Given the description of an element on the screen output the (x, y) to click on. 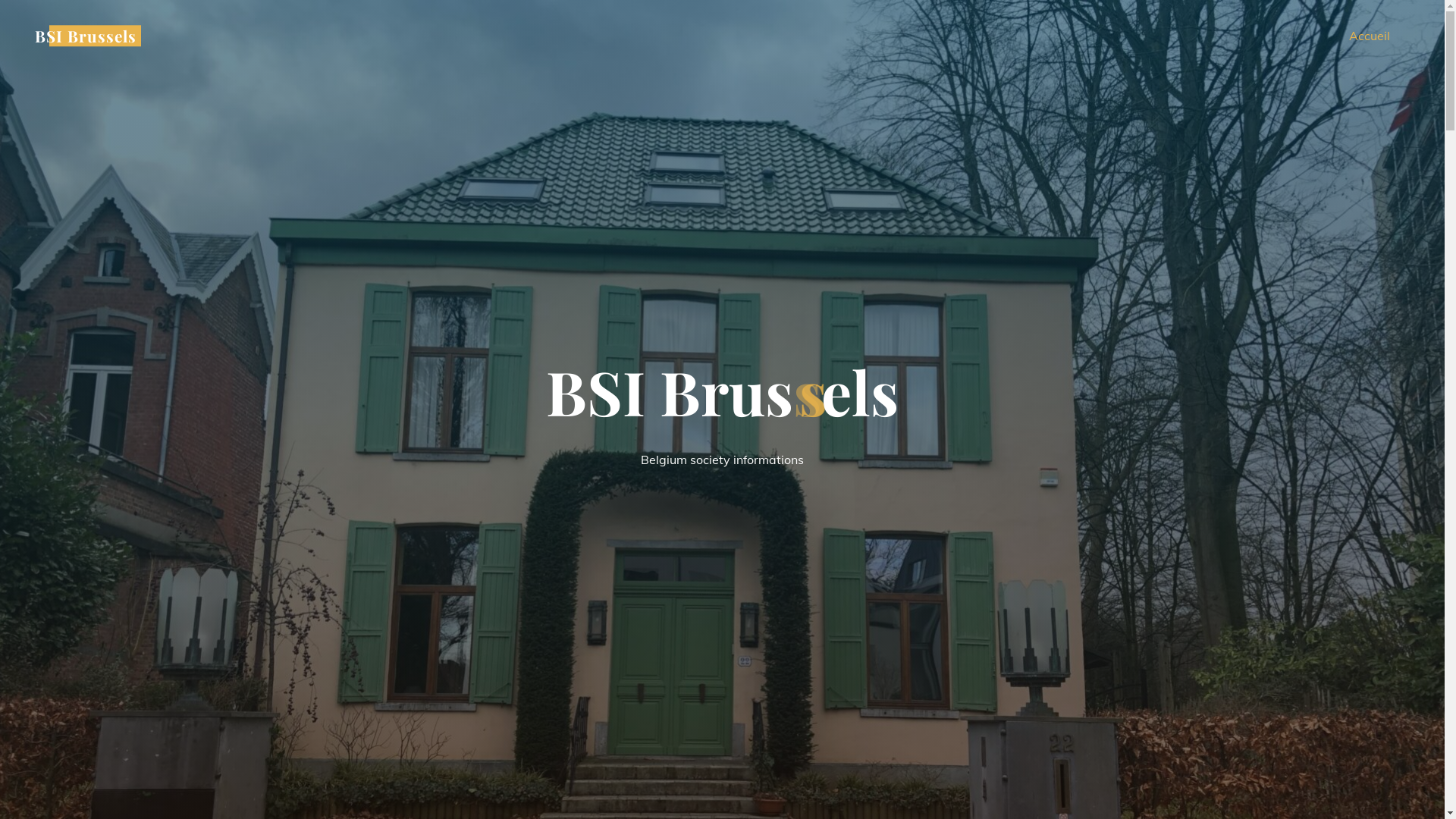
Lire la suite Element type: hover (721, 726)
BSI Brussels Element type: text (85, 35)
Accueil Element type: text (1369, 35)
